Given the description of an element on the screen output the (x, y) to click on. 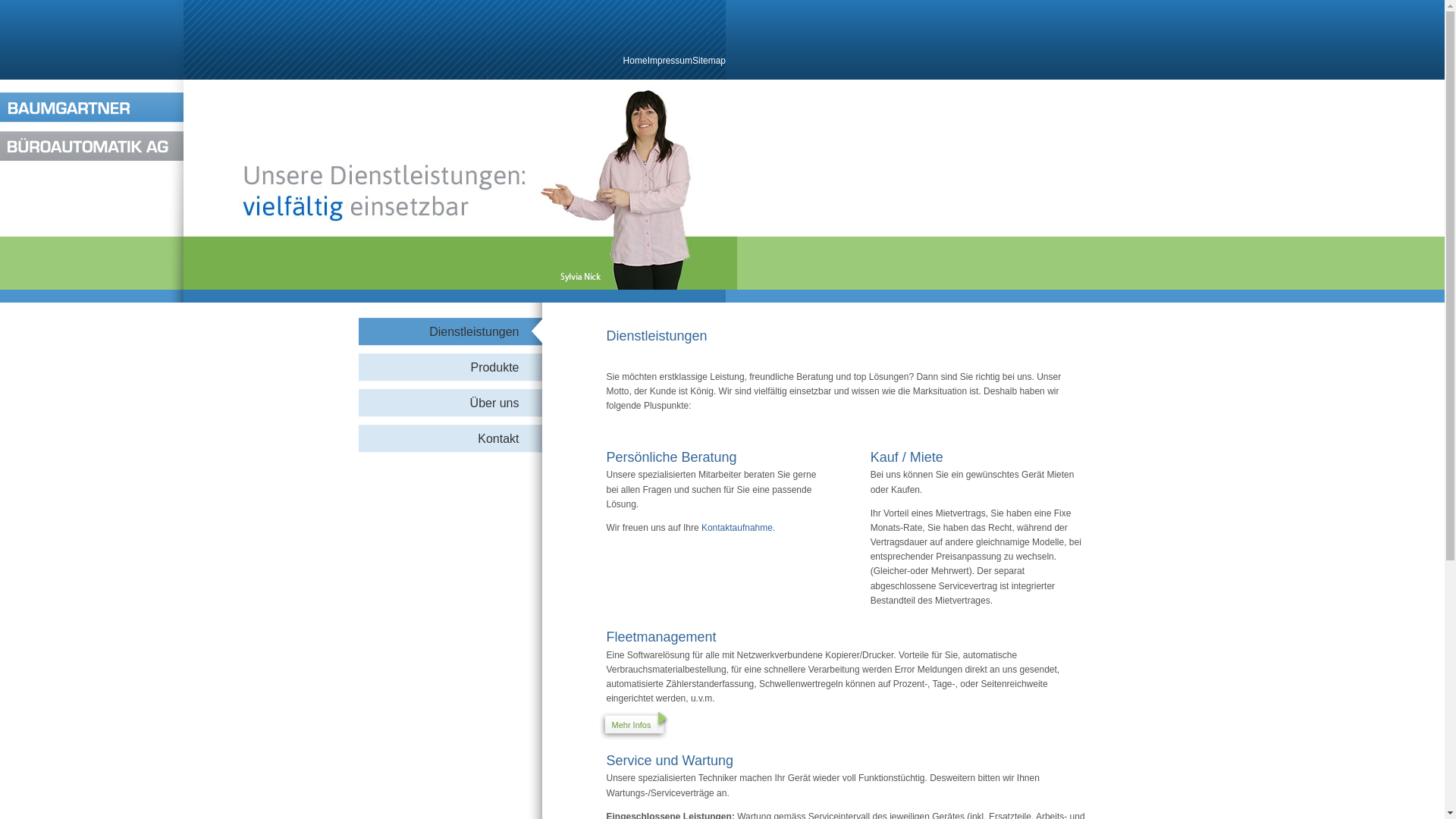
Home Element type: text (635, 60)
Mehr Infos Element type: text (839, 725)
Header Element type: text (91, 128)
Dienstleistungen Element type: text (451, 331)
Kontaktaufnahme Element type: text (736, 527)
Kontakt Element type: text (451, 438)
Produkte Element type: text (451, 367)
Impressum Element type: text (669, 60)
Sitemap Element type: text (708, 60)
